Given the description of an element on the screen output the (x, y) to click on. 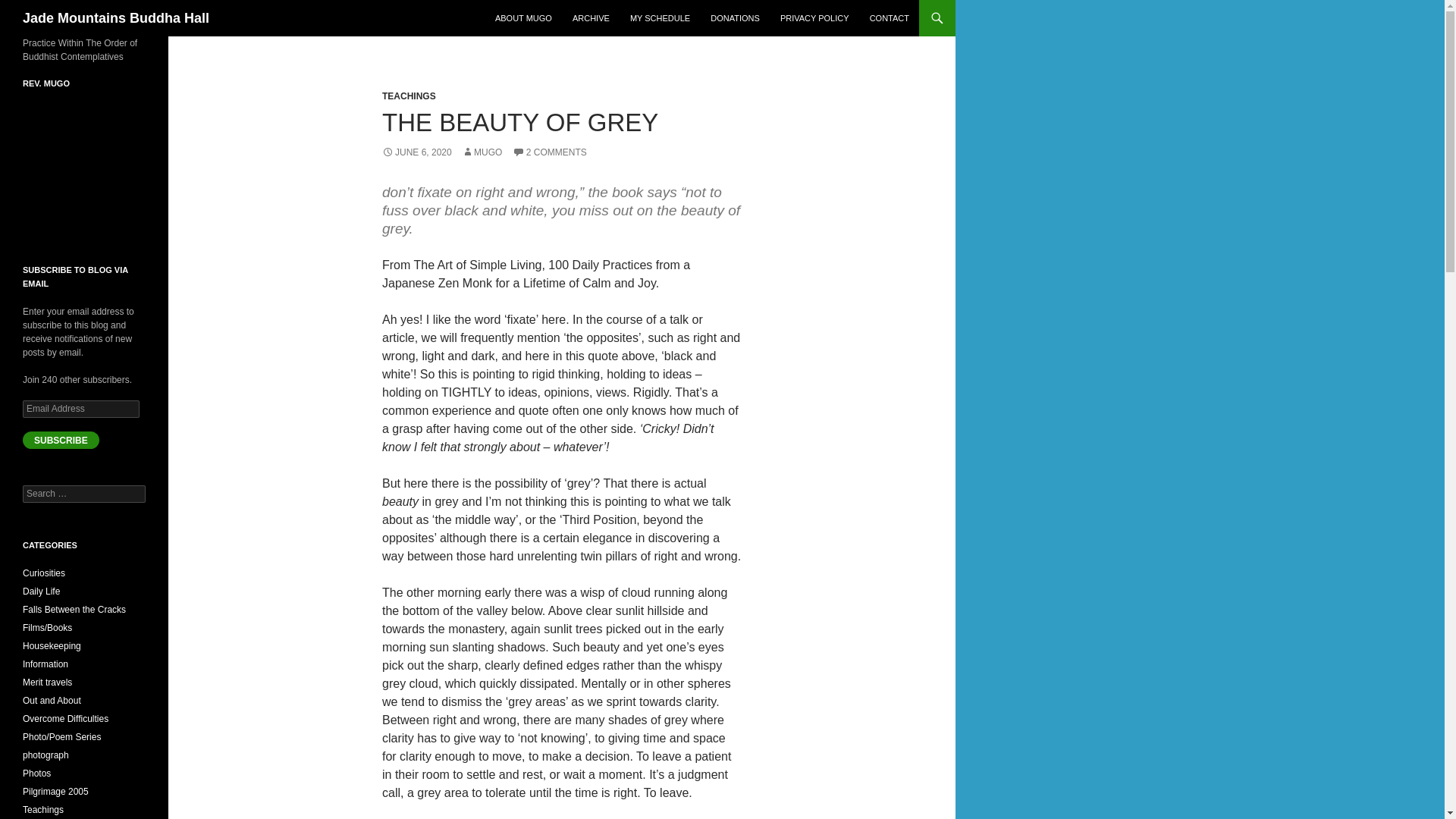
SUBSCRIBE (61, 439)
MUGO (481, 152)
Jade Mountains Buddha Hall (116, 18)
TEACHINGS (408, 95)
Search (30, 8)
MY SCHEDULE (659, 18)
Daily Life (41, 591)
ARCHIVE (590, 18)
JUNE 6, 2020 (416, 152)
ABOUT MUGO (523, 18)
CONTACT (889, 18)
DONATIONS (734, 18)
PRIVACY POLICY (815, 18)
Falls Between the Cracks (74, 609)
2 COMMENTS (549, 152)
